Given the description of an element on the screen output the (x, y) to click on. 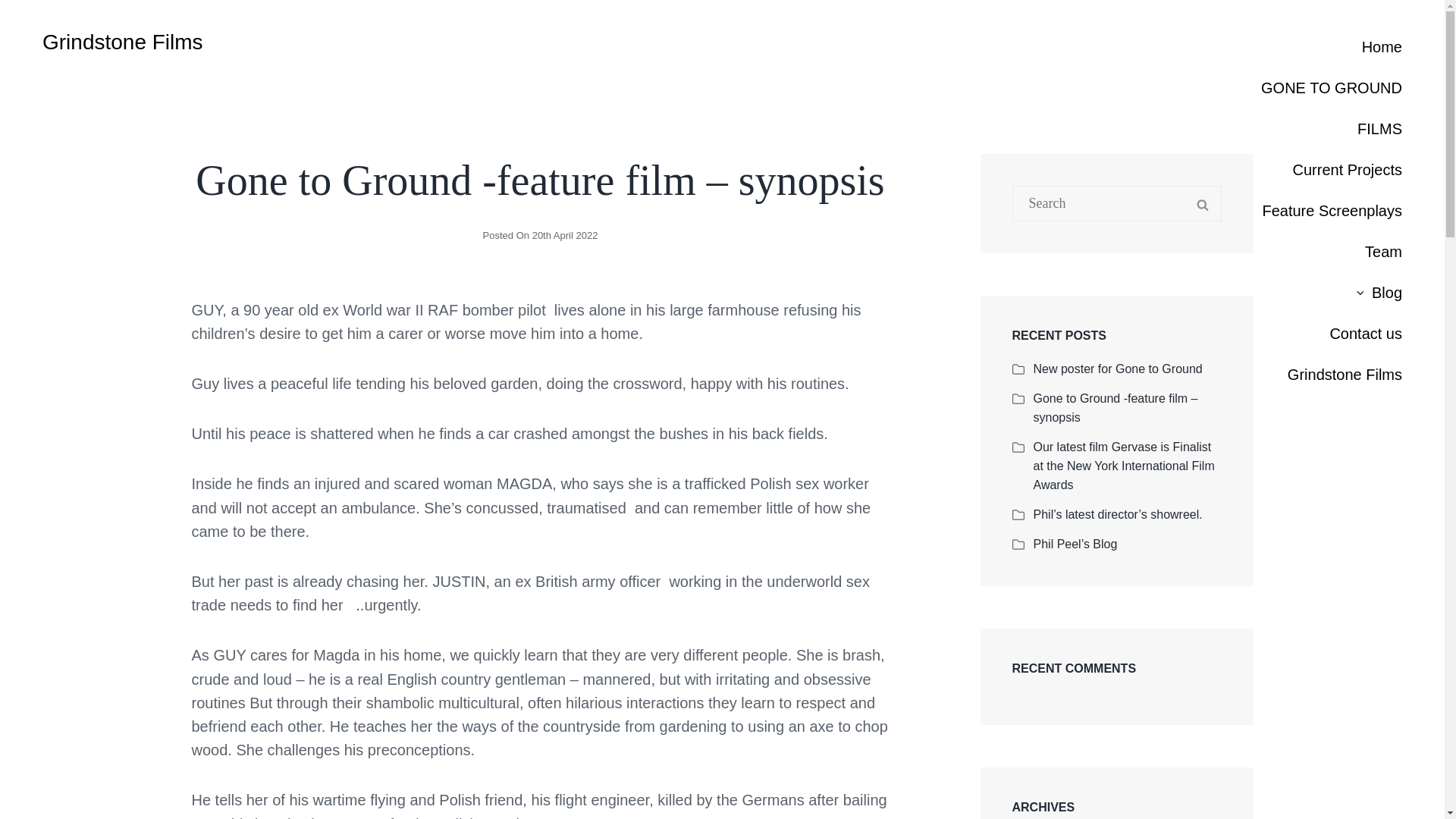
Grindstone Films (1331, 373)
Current Projects (1331, 169)
SEARCH (1203, 203)
GONE TO GROUND (1331, 87)
Feature Screenplays (1331, 210)
Team (1331, 250)
Grindstone Films (122, 42)
FILMS (1331, 128)
Posted On 20th April 2022 (540, 235)
Blog (1331, 291)
Home (1331, 46)
Contact us (1331, 332)
New poster for Gone to Ground (1117, 368)
